Given the description of an element on the screen output the (x, y) to click on. 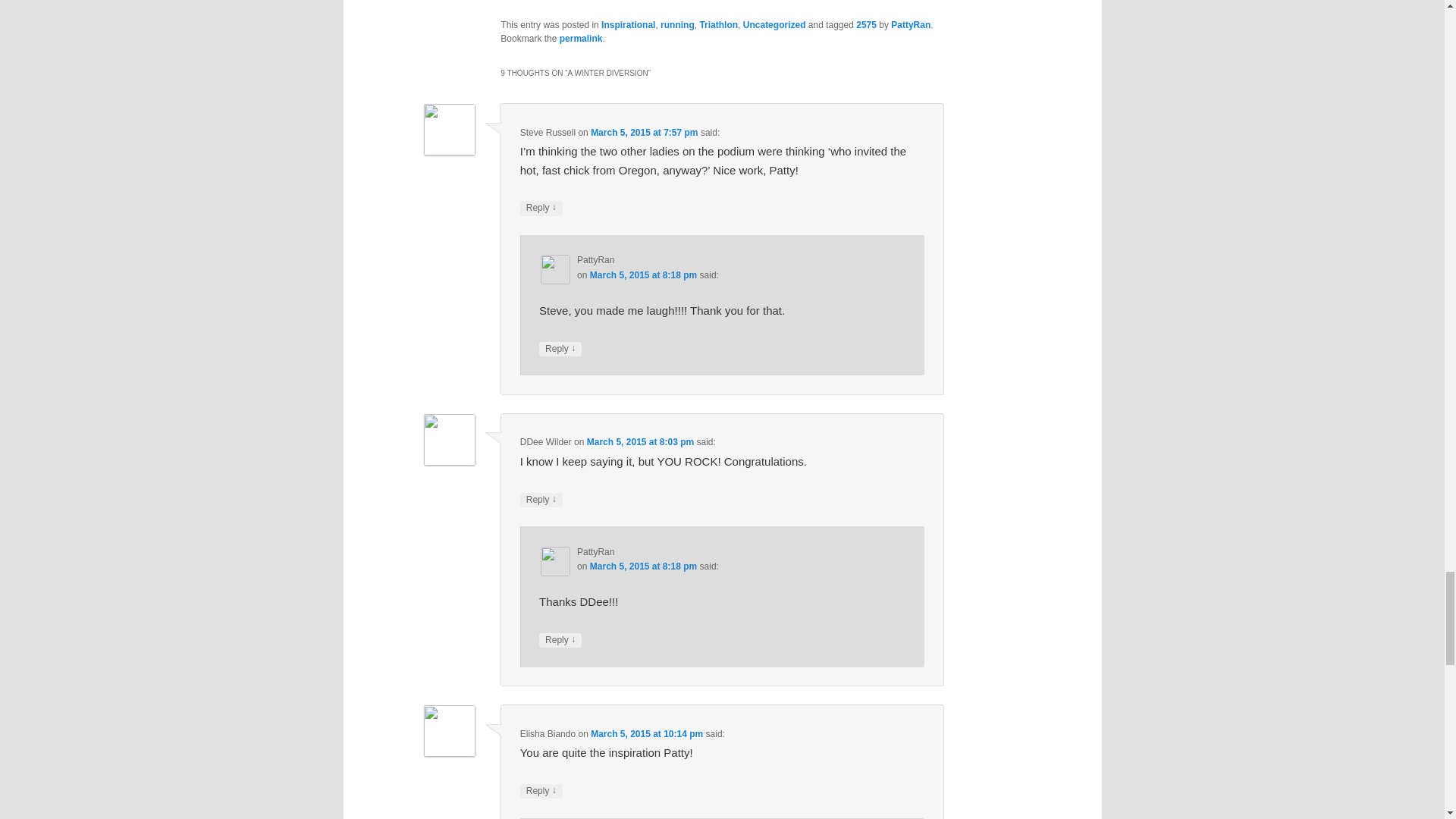
March 5, 2015 at 8:03 pm (640, 441)
Triathlon (718, 24)
permalink (580, 38)
Inspirational (628, 24)
PattyRan (910, 24)
2575 (866, 24)
running (677, 24)
Uncategorized (774, 24)
March 5, 2015 at 8:18 pm (643, 275)
Permalink to A Winter Diversion (580, 38)
